Given the description of an element on the screen output the (x, y) to click on. 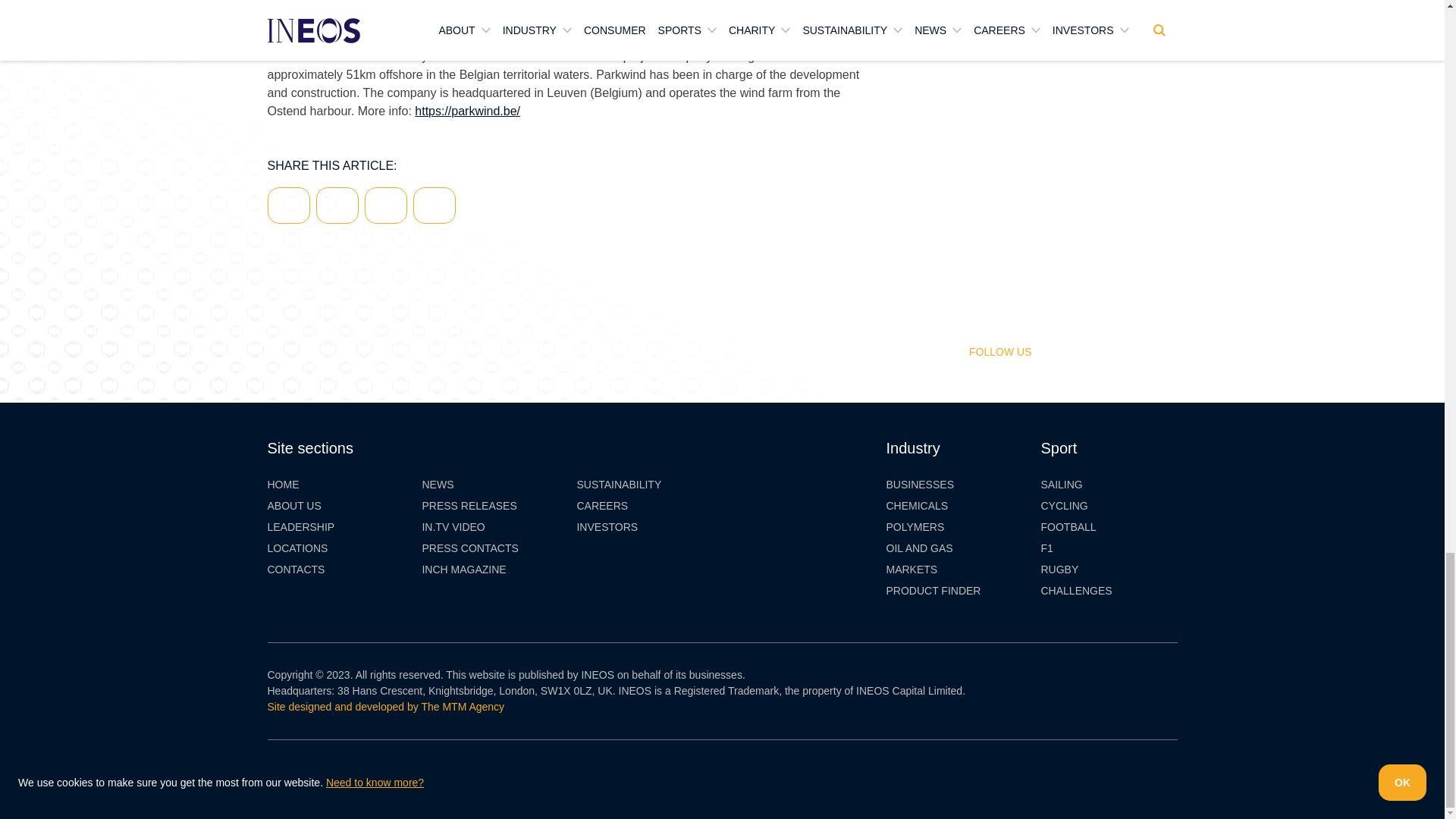
Site designed and developed by The MTM Agency (384, 706)
